Given the description of an element on the screen output the (x, y) to click on. 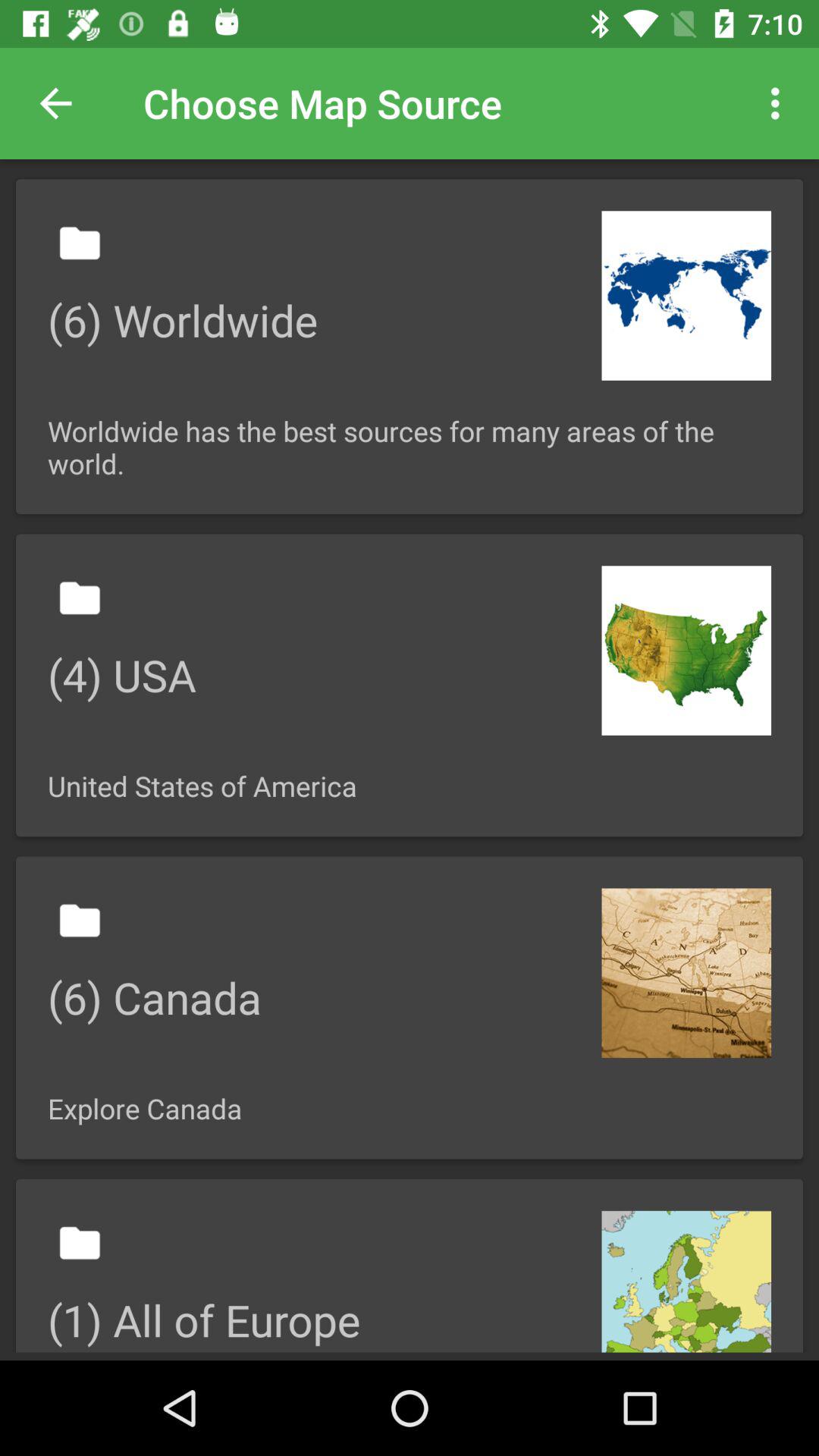
press the item to the left of choose map source item (55, 103)
